Given the description of an element on the screen output the (x, y) to click on. 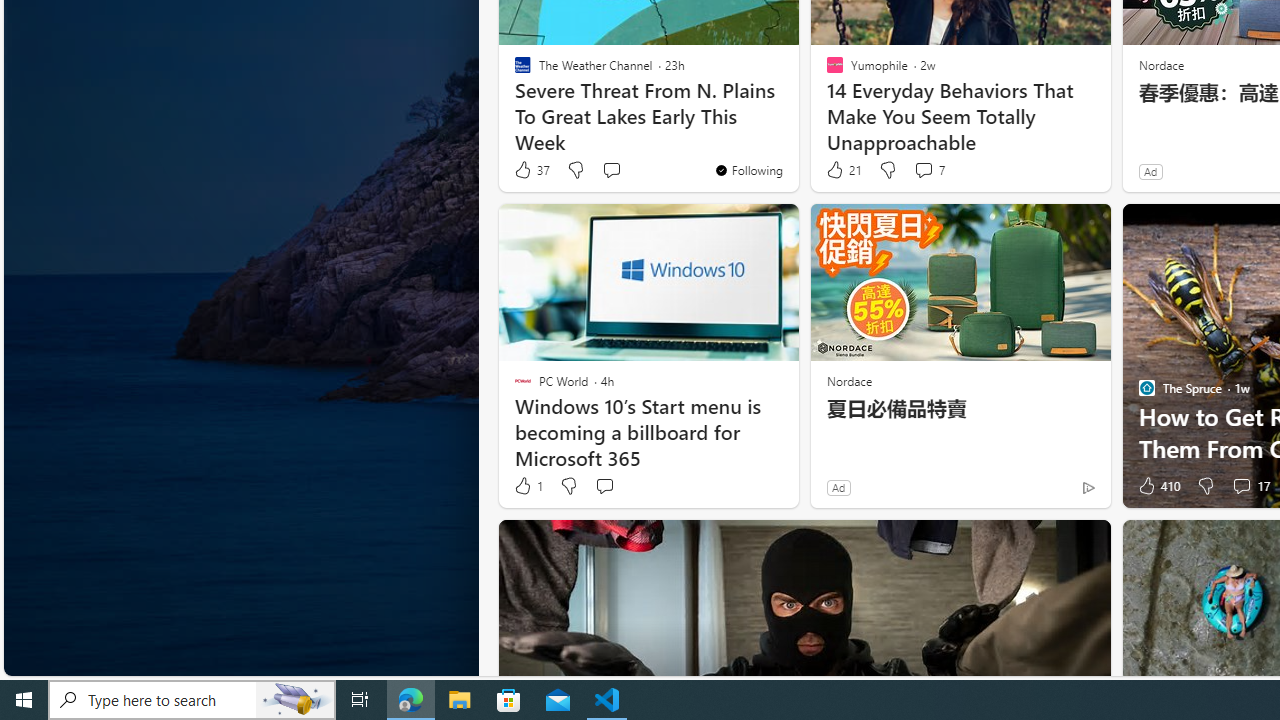
1 Like (527, 485)
37 Like (531, 170)
View comments 7 Comment (928, 170)
View comments 17 Comment (1241, 485)
View comments 7 Comment (923, 169)
View comments 17 Comment (1249, 485)
410 Like (1157, 485)
